Given the description of an element on the screen output the (x, y) to click on. 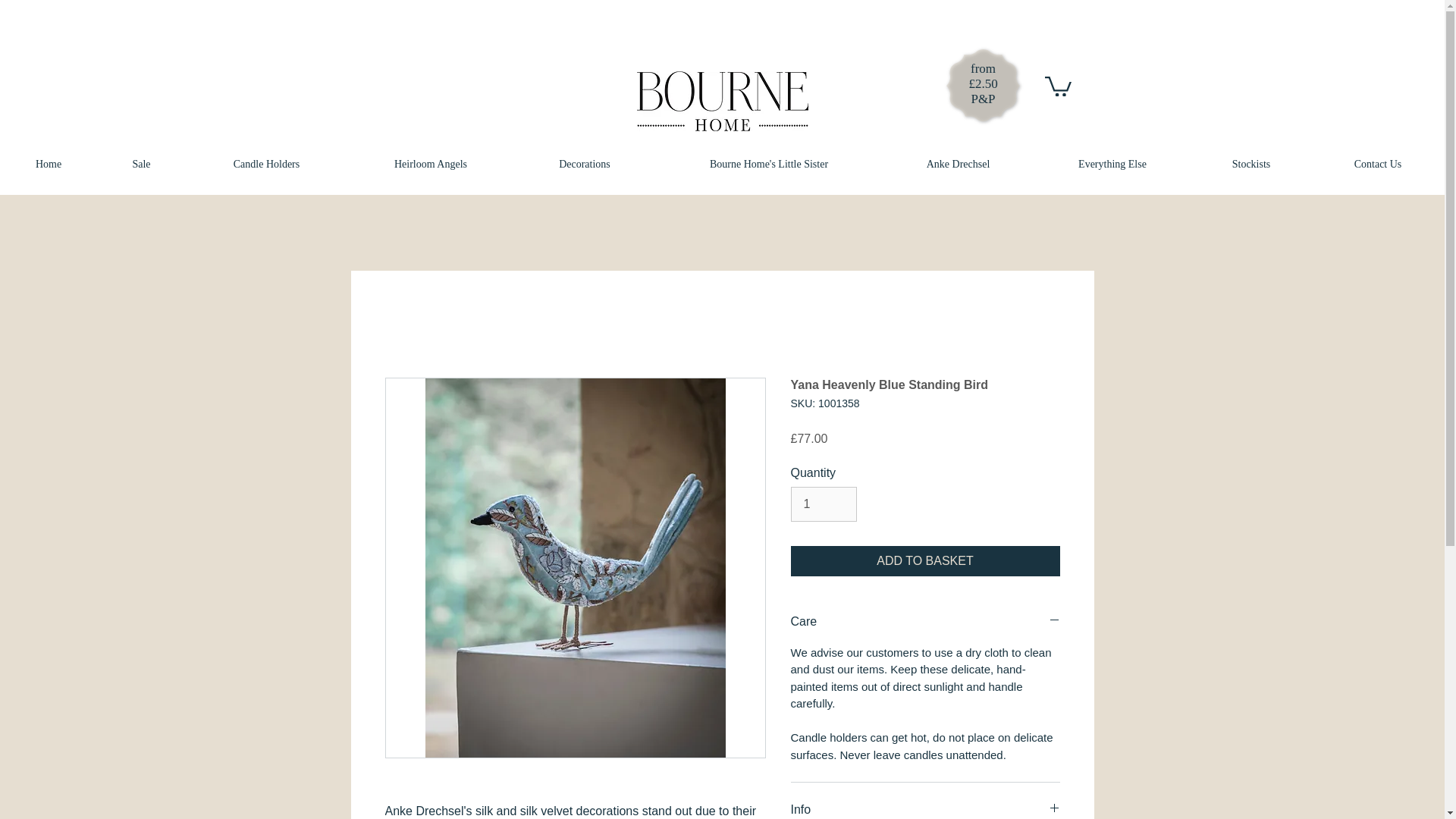
Candle Holders (266, 164)
1 (823, 503)
Sale (141, 164)
Stockists (1251, 164)
Everything Else (1112, 164)
Bourne Home's Little Sister (768, 164)
Info (924, 809)
Home (48, 164)
Anke Drechsel (957, 164)
Care (924, 621)
Heirloom Angels (430, 164)
Decorations (584, 164)
ADD TO BASKET (924, 561)
